Given the description of an element on the screen output the (x, y) to click on. 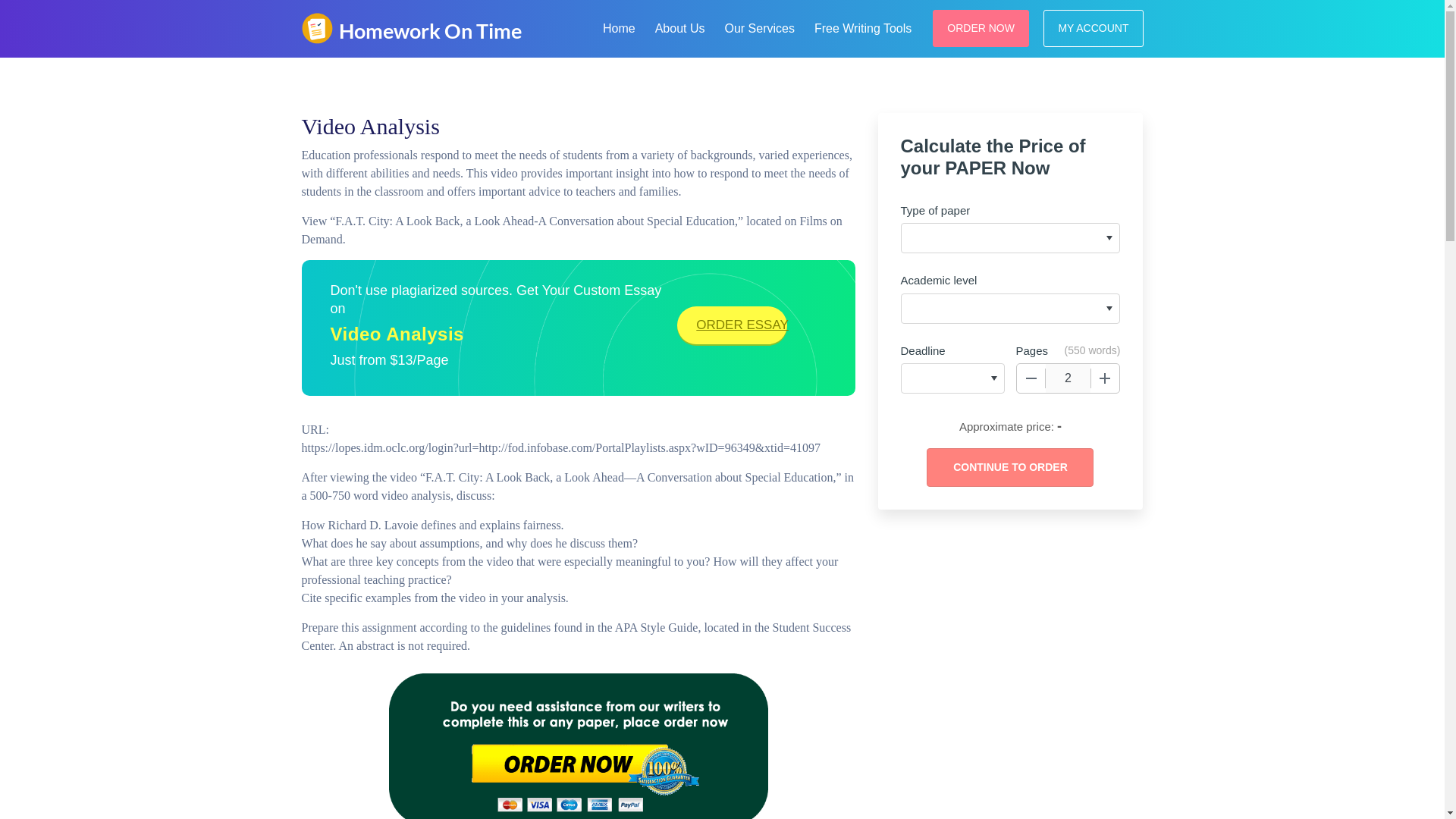
ORDER NOW (981, 27)
Home (619, 26)
Our Services (758, 26)
MY ACCOUNT (1092, 27)
Home (619, 26)
Increase (1104, 378)
ORDER ESSAY (732, 324)
Free Writing Tools (862, 26)
About Us (680, 26)
Free Writing Tools (862, 26)
Decrease (1030, 378)
Continue to order (1009, 466)
2 (1067, 378)
Continue to order (1009, 466)
About Us (680, 26)
